Given the description of an element on the screen output the (x, y) to click on. 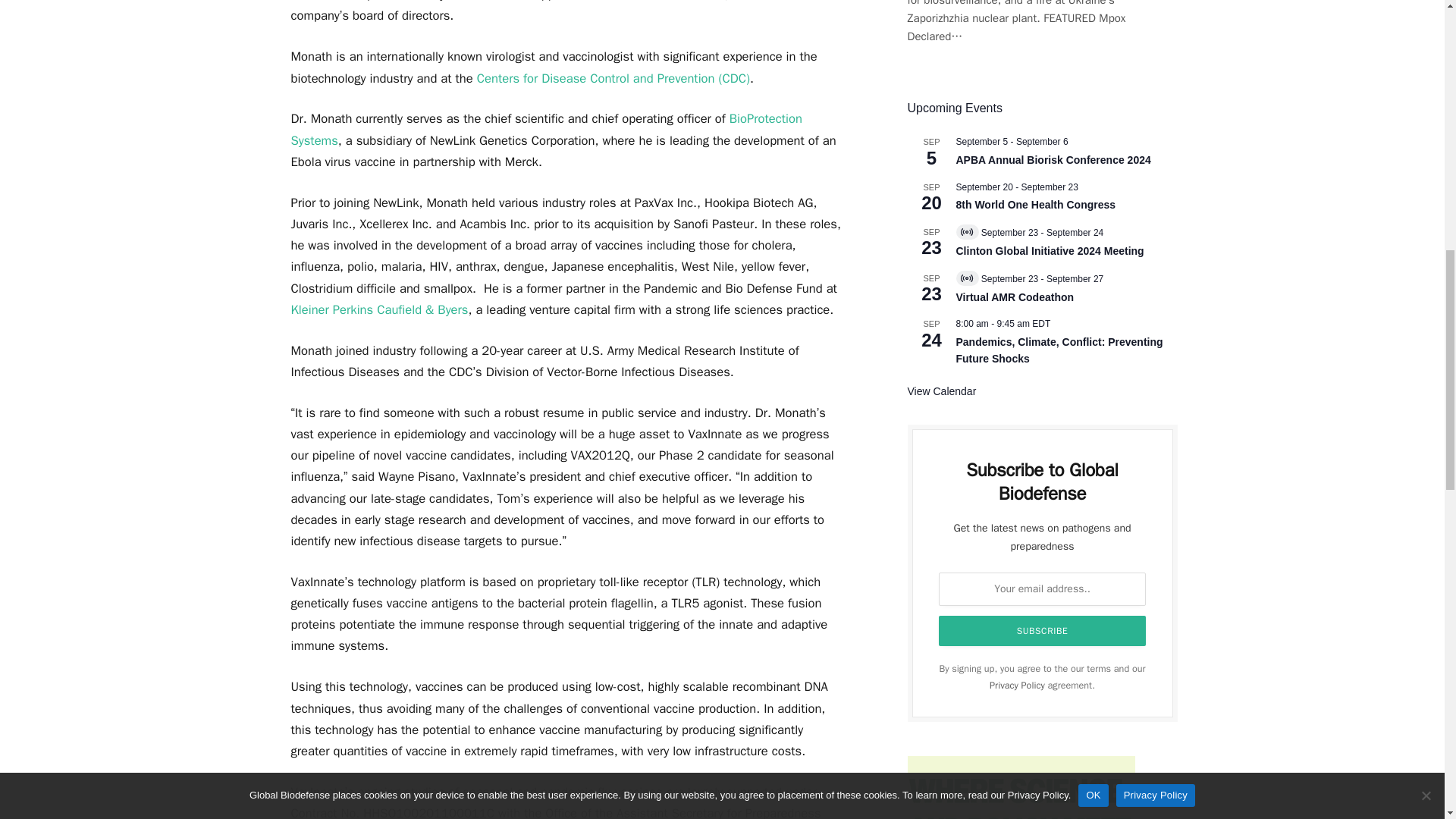
Virtual Event (966, 277)
BioProtection Systems (546, 129)
Virtual Event (966, 231)
Subscribe (1043, 630)
